Given the description of an element on the screen output the (x, y) to click on. 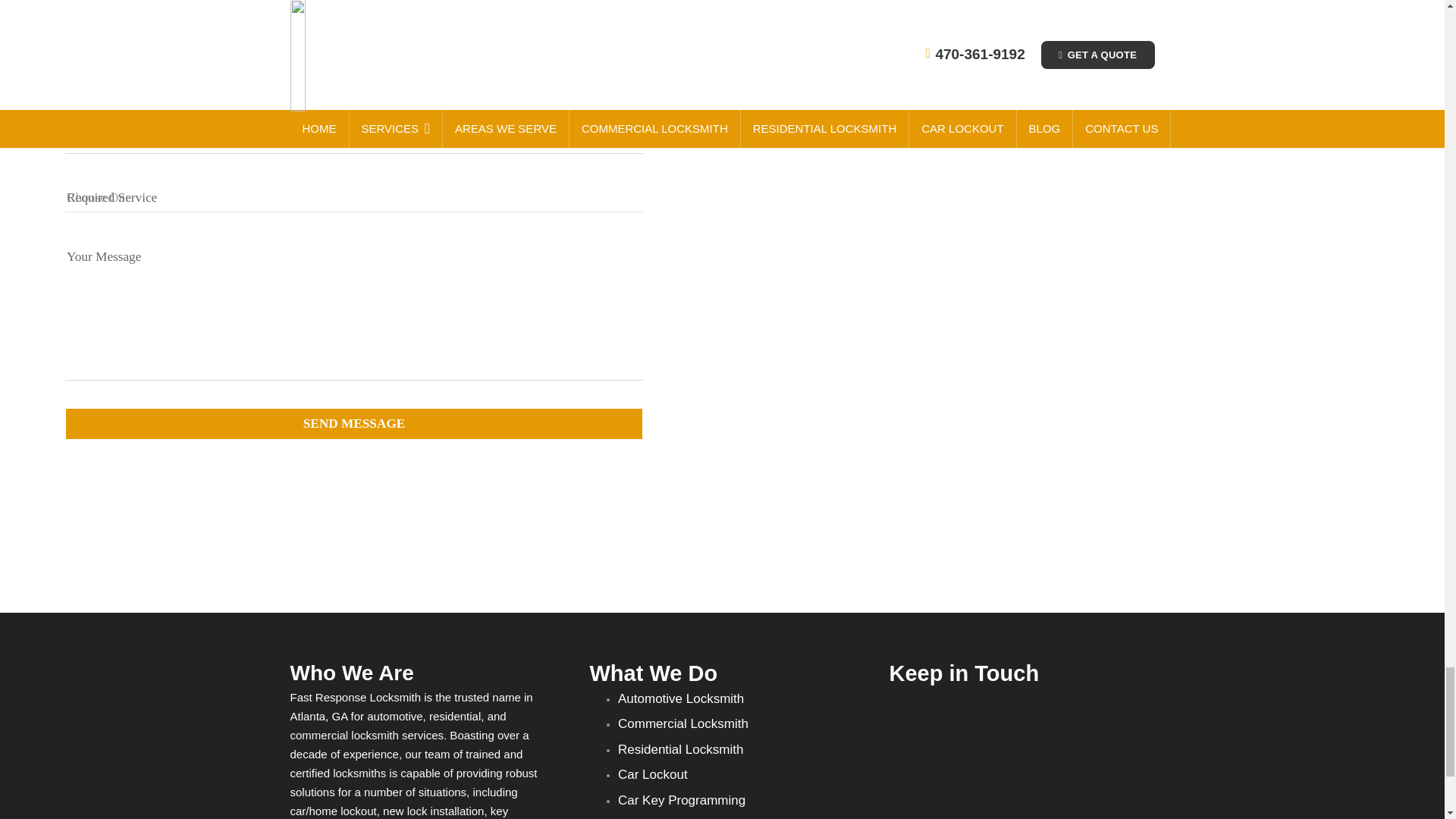
Residential Locksmith (679, 749)
Car Key Programming (681, 800)
Car Lockout (652, 774)
Automotive Locksmith (680, 698)
Commercial Locksmith (682, 723)
SEND MESSAGE (354, 423)
